Given the description of an element on the screen output the (x, y) to click on. 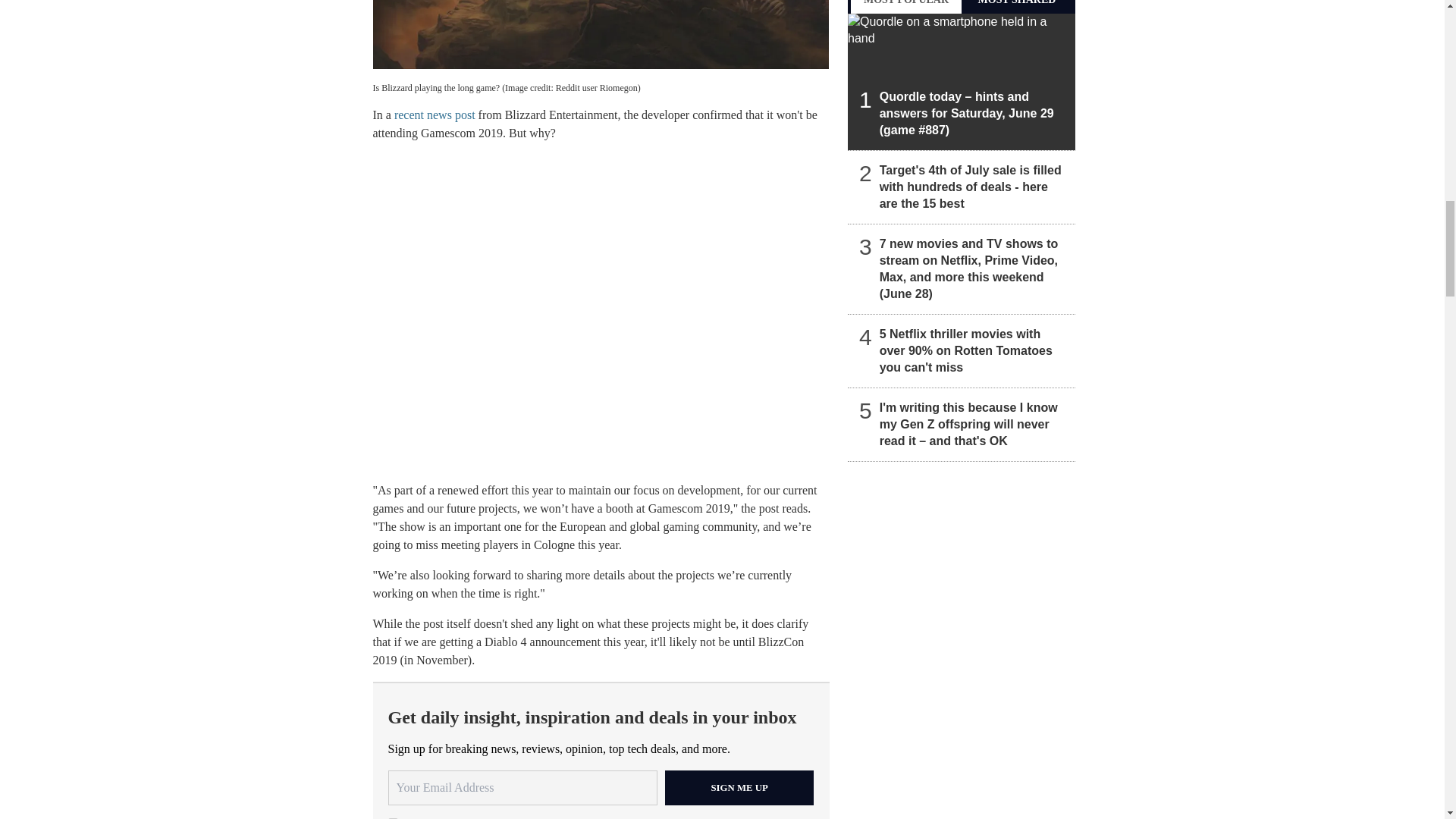
Sign me up (739, 787)
